Given the description of an element on the screen output the (x, y) to click on. 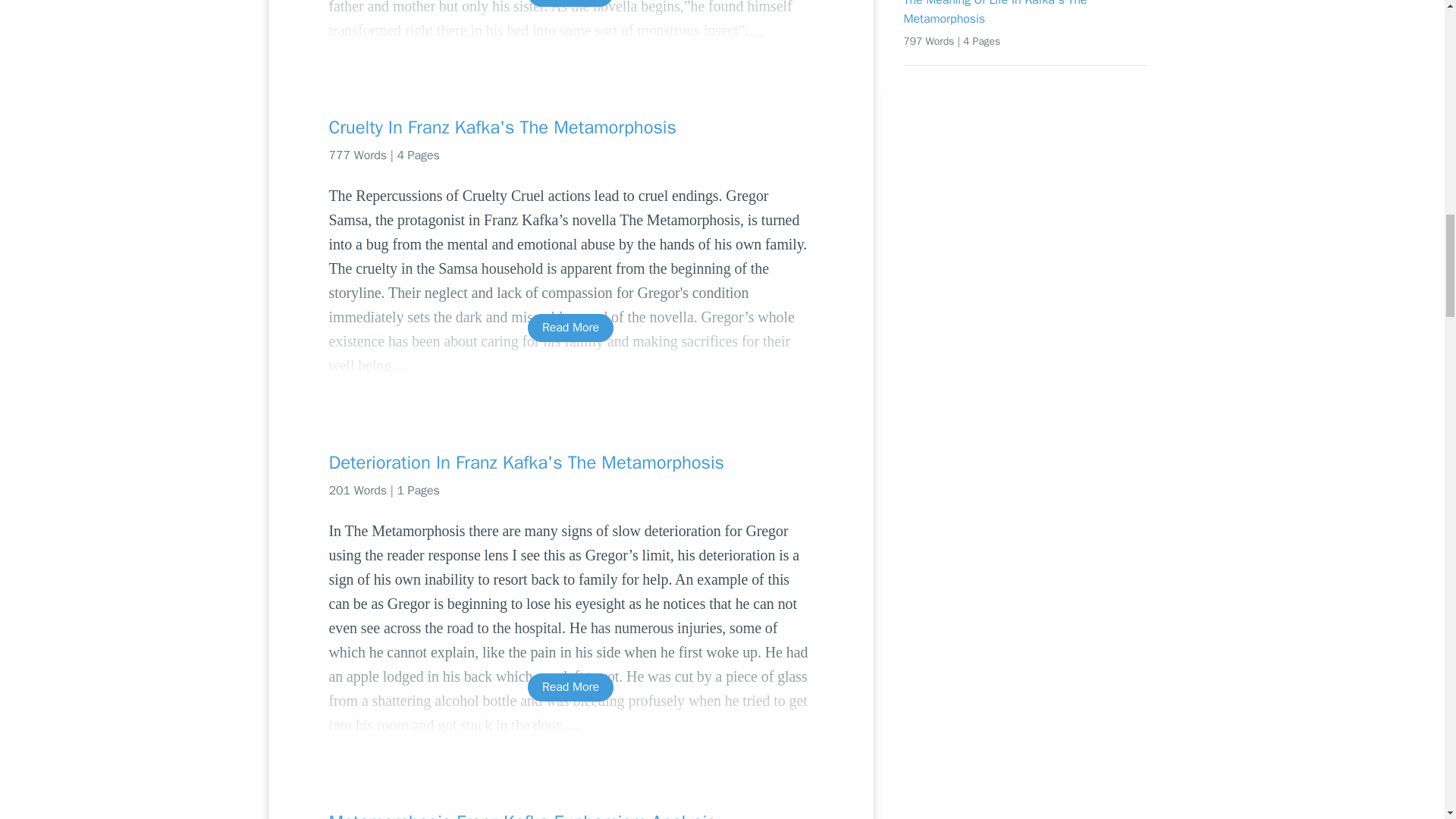
Read More (569, 3)
Read More (569, 327)
Deterioration In Franz Kafka's The Metamorphosis (570, 462)
Cruelty In Franz Kafka's The Metamorphosis (570, 127)
Read More (569, 687)
Metamorphosis Franz Kafka Euphemism Analysis (570, 814)
